Given the description of an element on the screen output the (x, y) to click on. 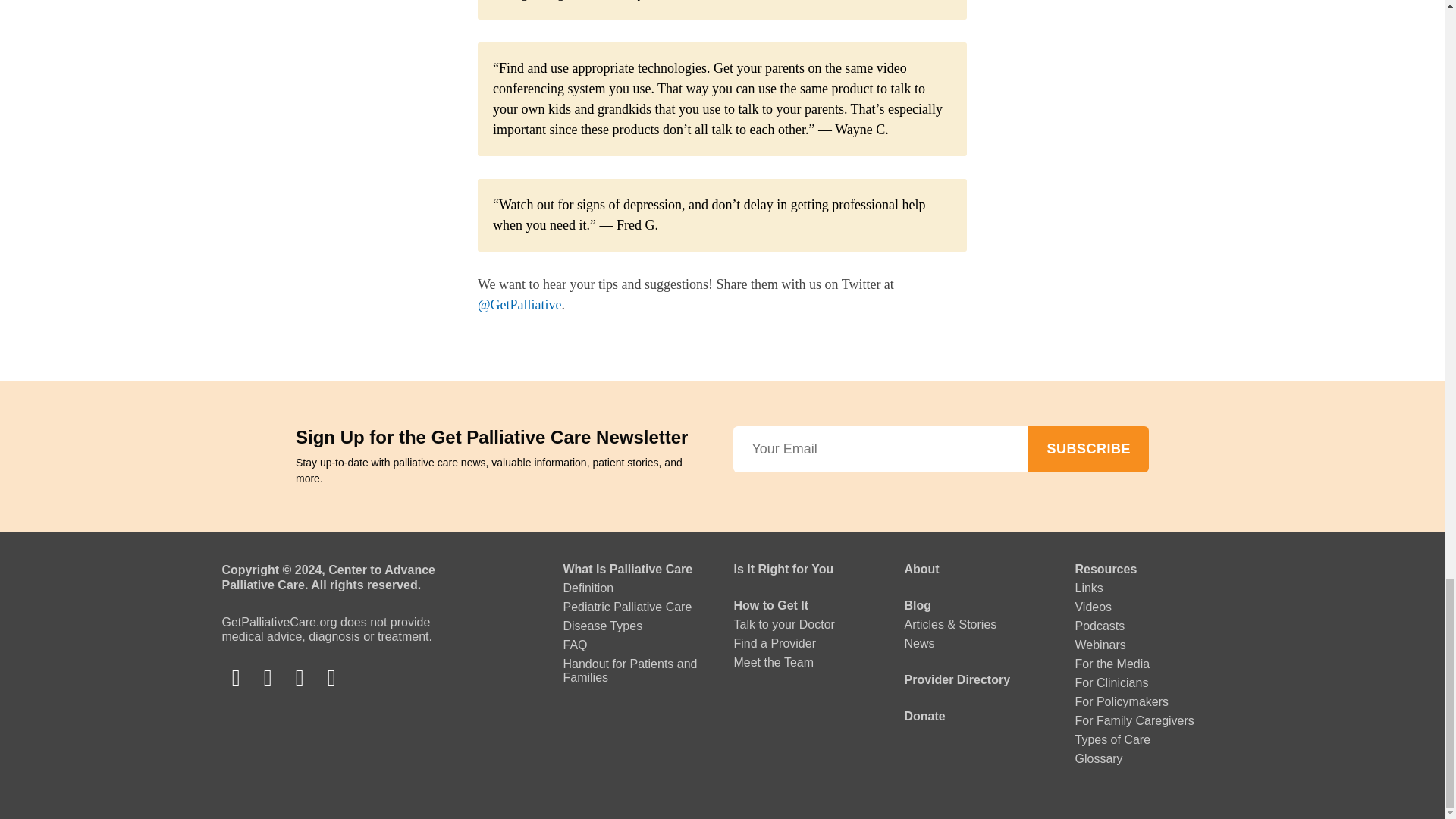
Subscribe (1087, 448)
